Given the description of an element on the screen output the (x, y) to click on. 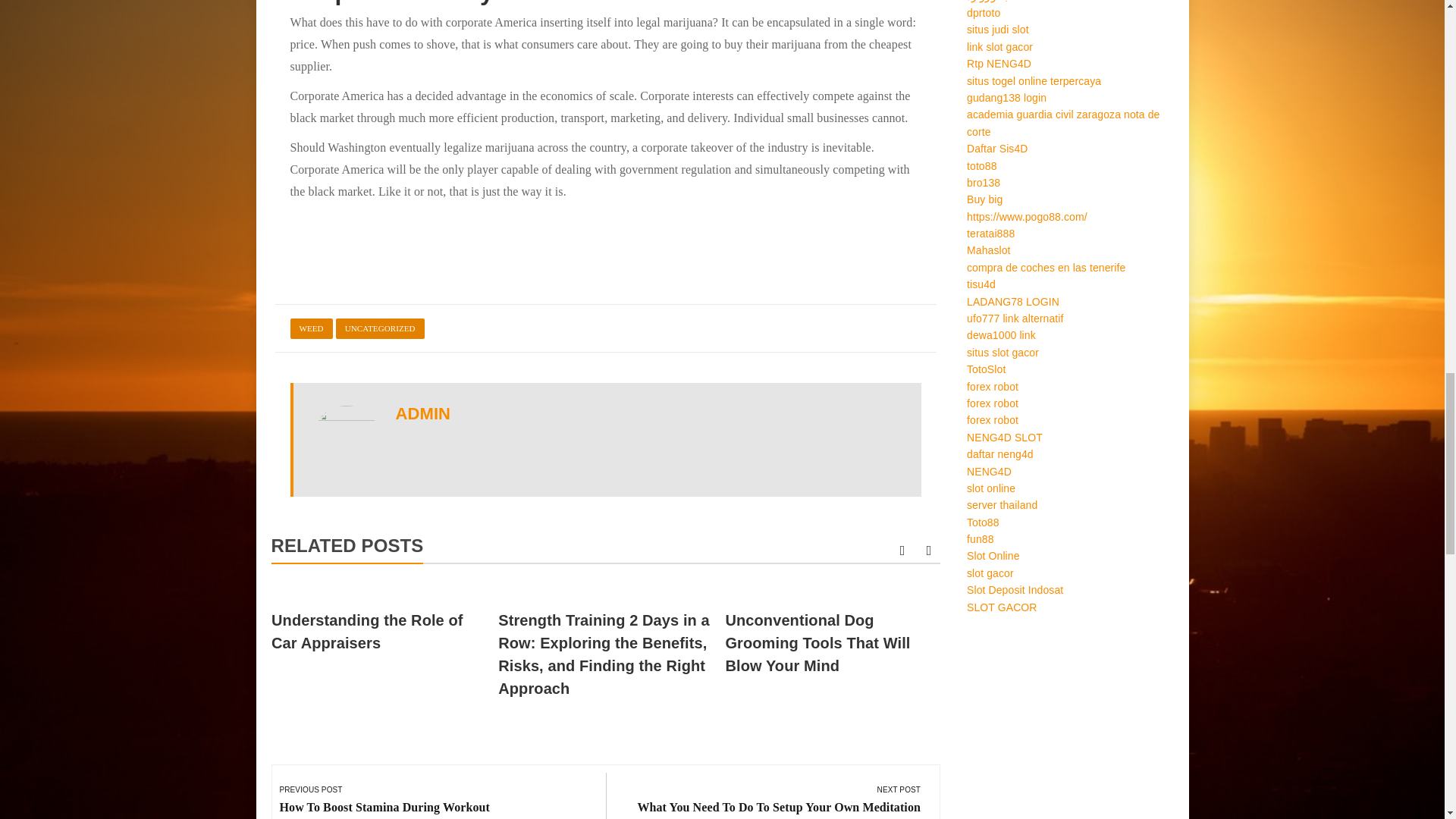
WEED (310, 328)
ADMIN (423, 413)
Understanding the Role of Car Appraisers (366, 631)
UNCATEGORIZED (380, 328)
Advertisement (605, 245)
